Given the description of an element on the screen output the (x, y) to click on. 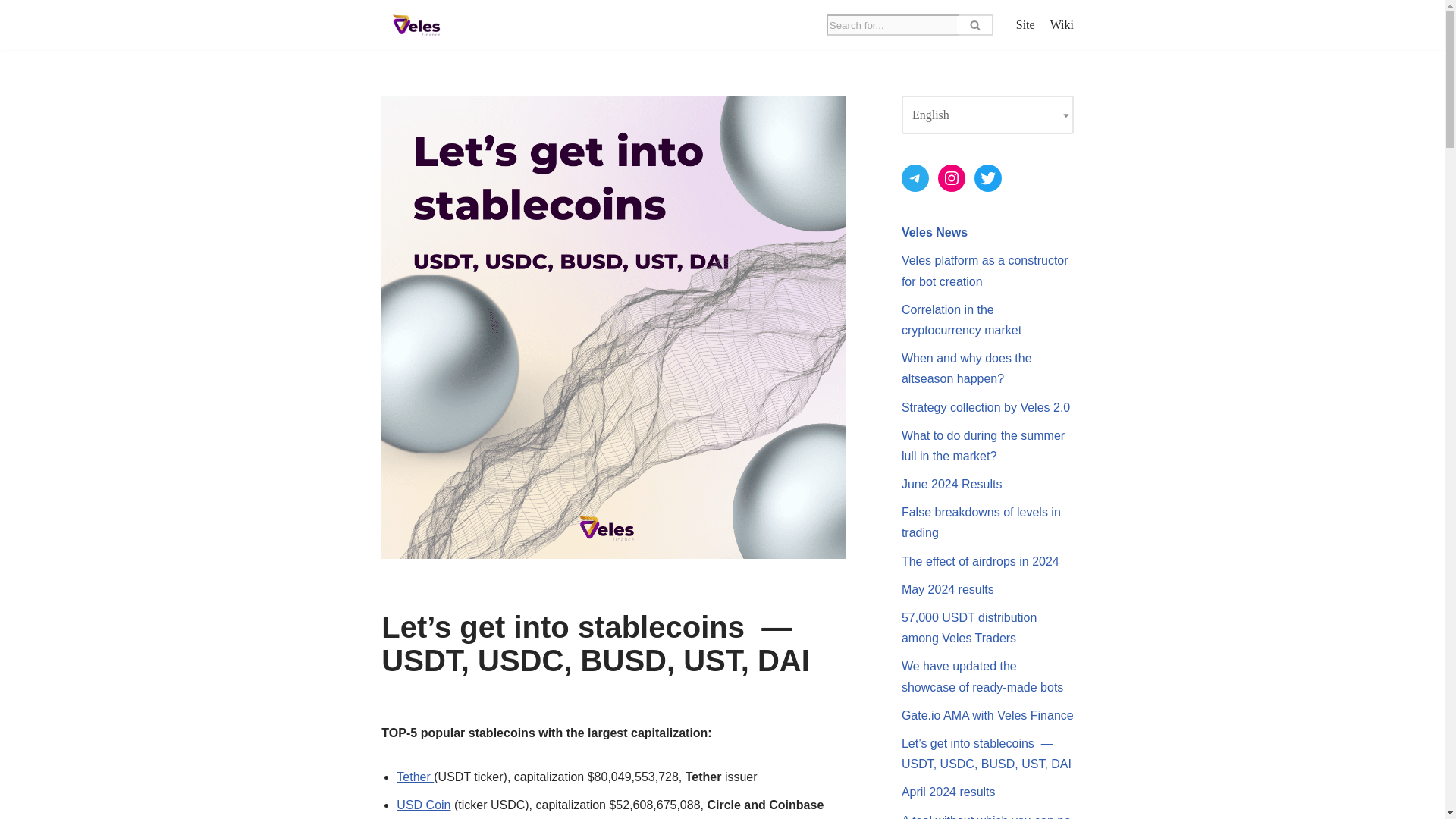
Wiki (1061, 25)
Veles Finance (416, 24)
Veles News (934, 232)
USD Coin (422, 804)
When and why does the altseason happen? (966, 368)
Veles platform as a constructor for bot creation (984, 270)
Correlation in the cryptocurrency market  (963, 319)
Site (1025, 25)
Tether (414, 776)
